Given the description of an element on the screen output the (x, y) to click on. 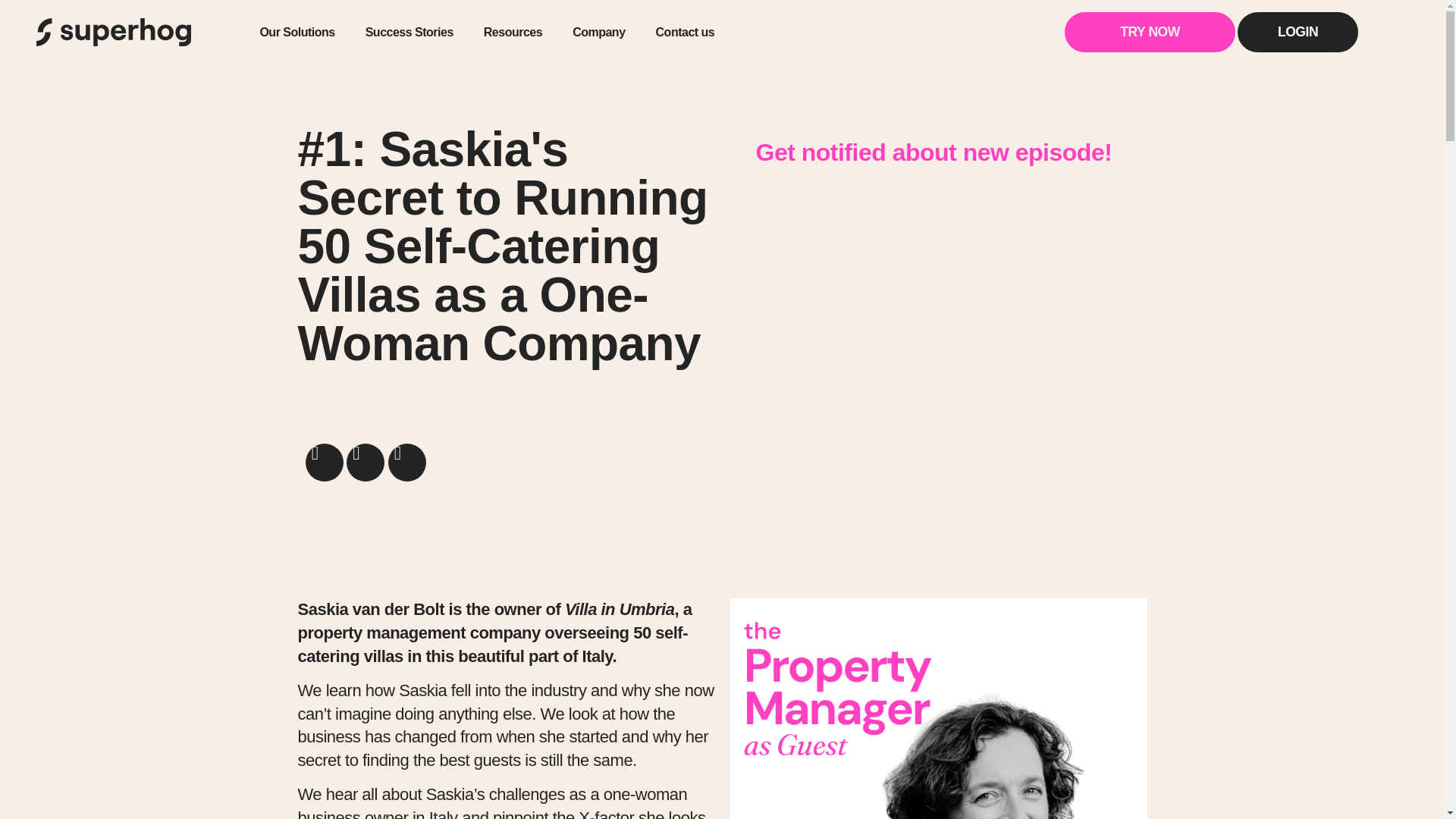
Resources (512, 32)
Our Solutions (296, 32)
Company (598, 32)
Success Stories (409, 32)
Contact us (685, 32)
